Given the description of an element on the screen output the (x, y) to click on. 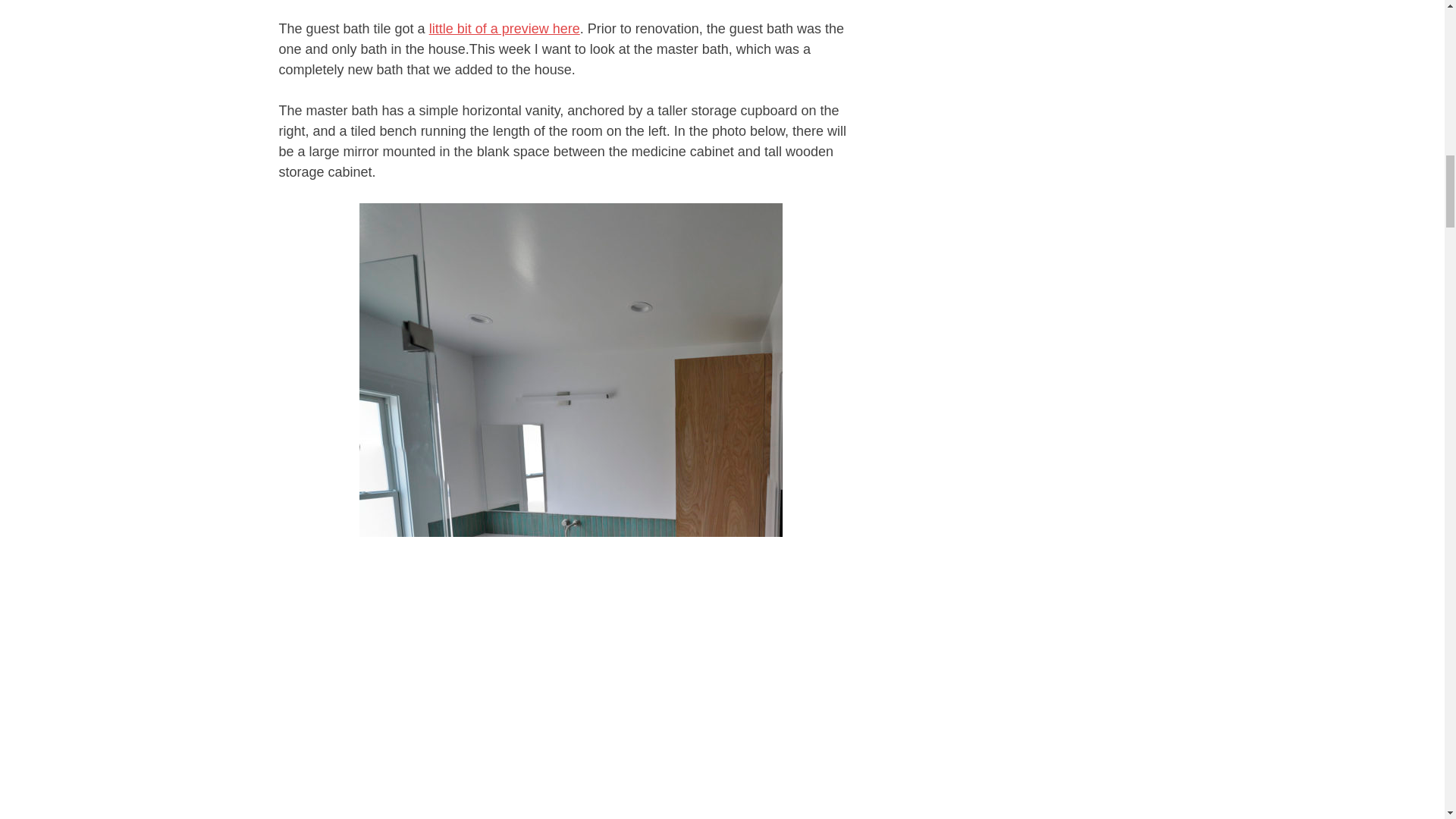
little bit of a preview here (504, 28)
